Given the description of an element on the screen output the (x, y) to click on. 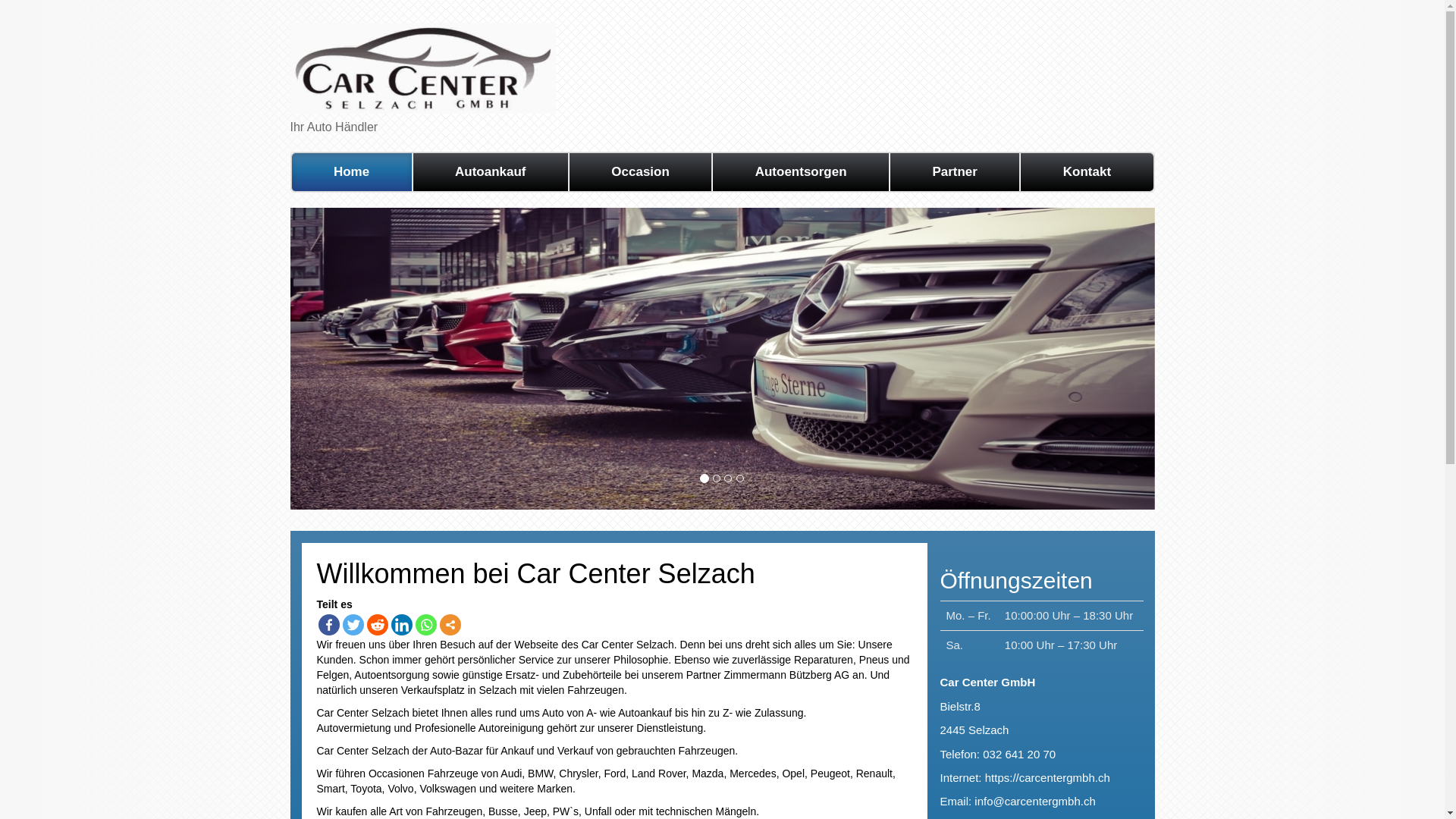
Twitter Element type: hover (353, 624)
Home Element type: text (351, 172)
More Element type: hover (450, 624)
Autoankauf Element type: text (490, 172)
Reddit Element type: hover (377, 624)
Facebook Element type: hover (328, 624)
Partner Element type: text (954, 172)
Whatsapp Element type: hover (425, 624)
Autoentsorgen Element type: text (800, 172)
LinkedIn Element type: hover (401, 624)
Car Center selzach Gmbh Element type: hover (422, 67)
Occasion Element type: text (640, 172)
Kontakt Element type: text (1085, 172)
